Given the description of an element on the screen output the (x, y) to click on. 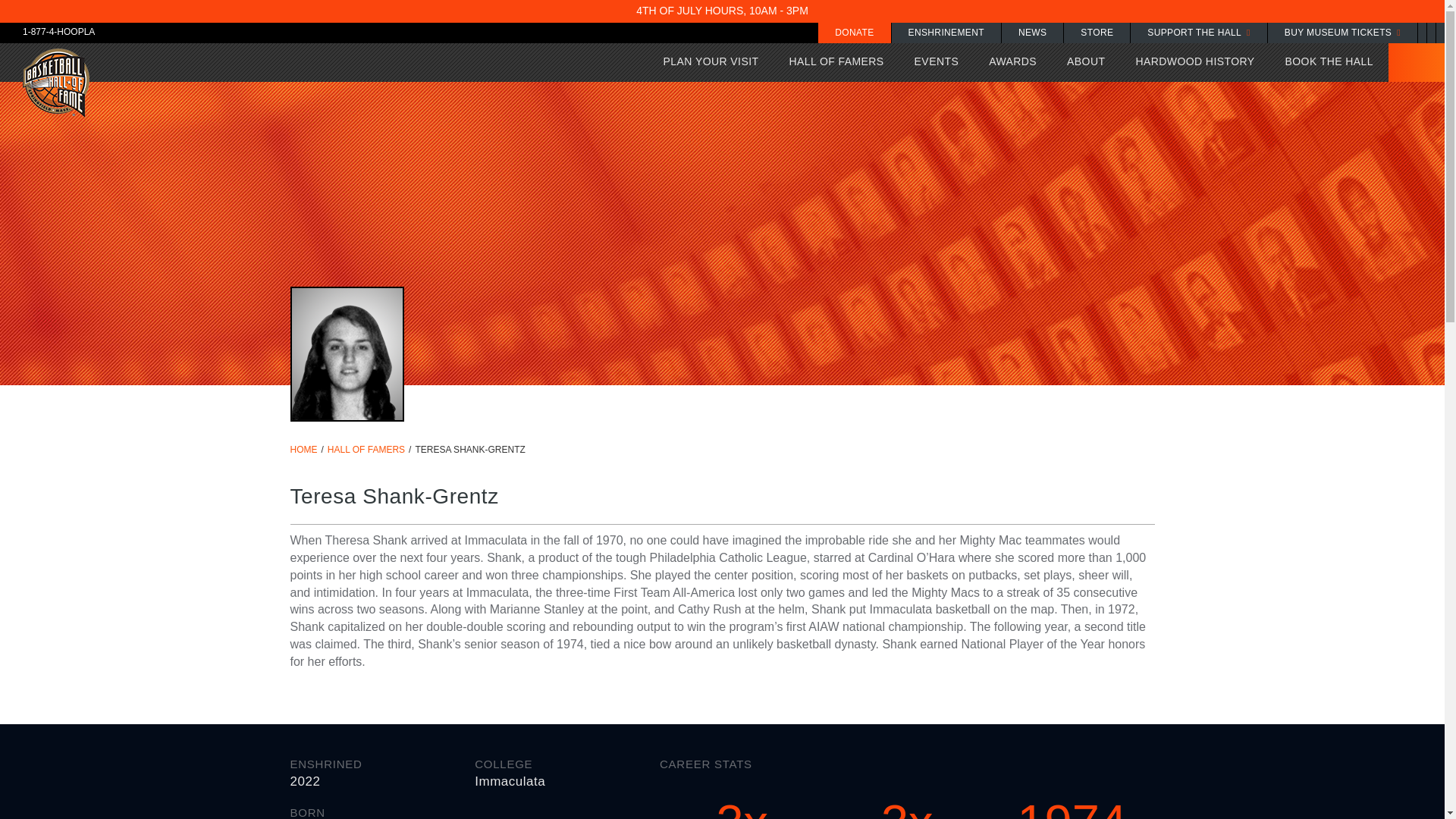
NEWS (1031, 32)
SUPPORT THE HALL (1198, 32)
1-877-4-HOOPLA (47, 30)
STORE (1096, 32)
ENSHRINEMENT (946, 32)
DONATE (853, 32)
PLAN YOUR VISIT (710, 62)
BUY MUSEUM TICKETS (1342, 32)
HALL OF FAMERS (835, 62)
